Given the description of an element on the screen output the (x, y) to click on. 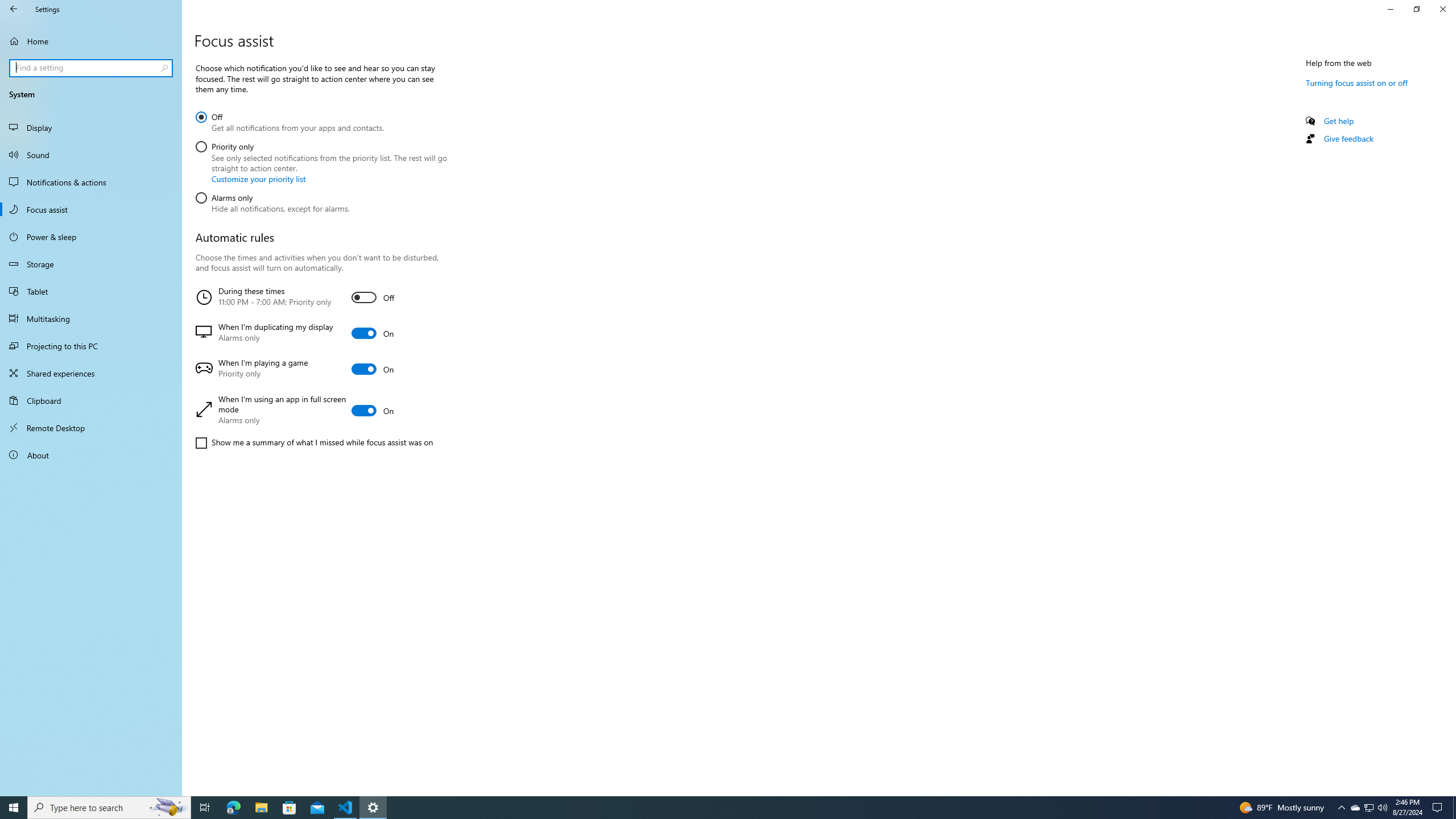
Minimize Settings (1390, 9)
Focus assist (91, 208)
Turning focus assist on or off (1356, 82)
